Given the description of an element on the screen output the (x, y) to click on. 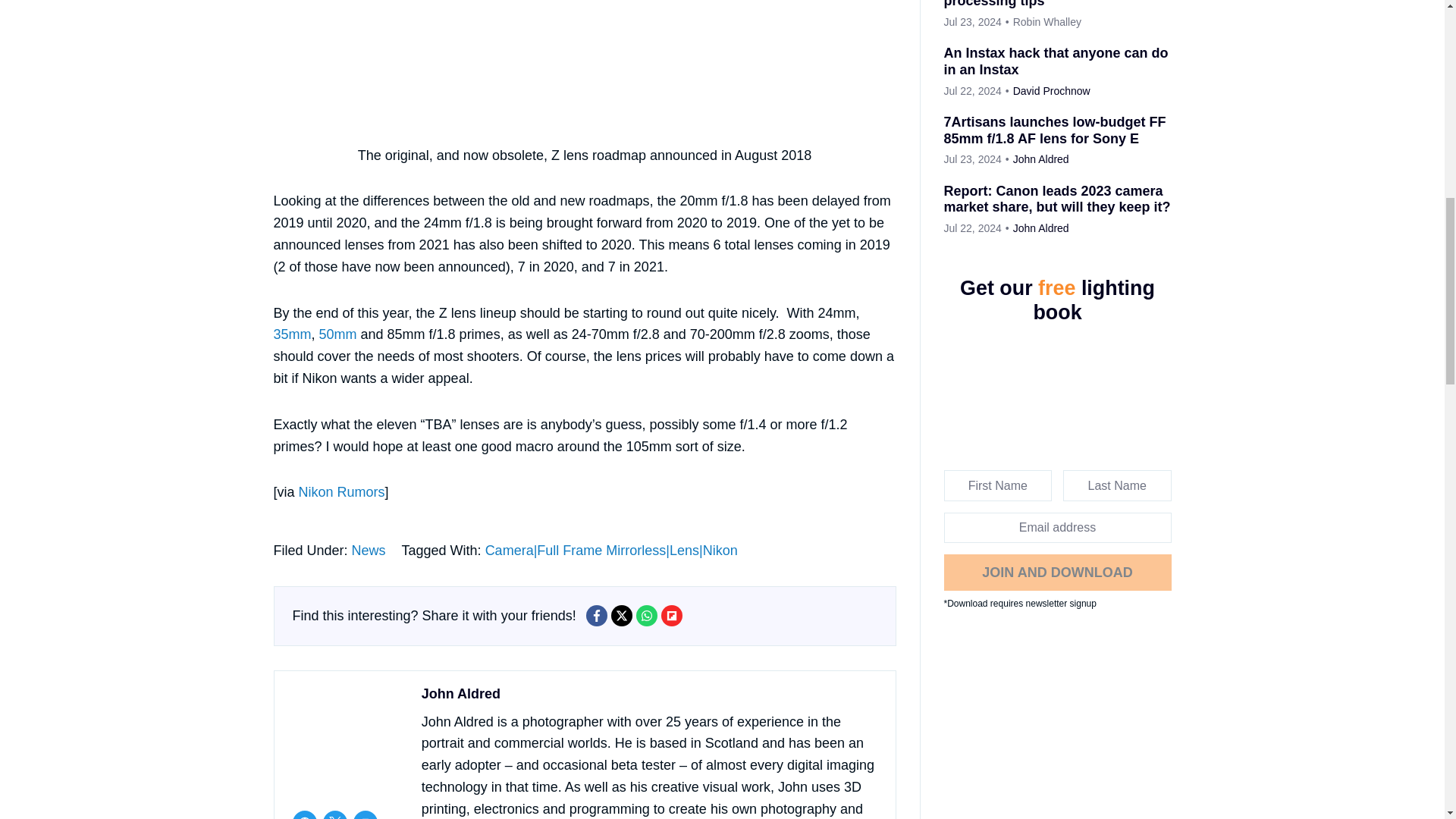
Join and Download (1056, 572)
